Given the description of an element on the screen output the (x, y) to click on. 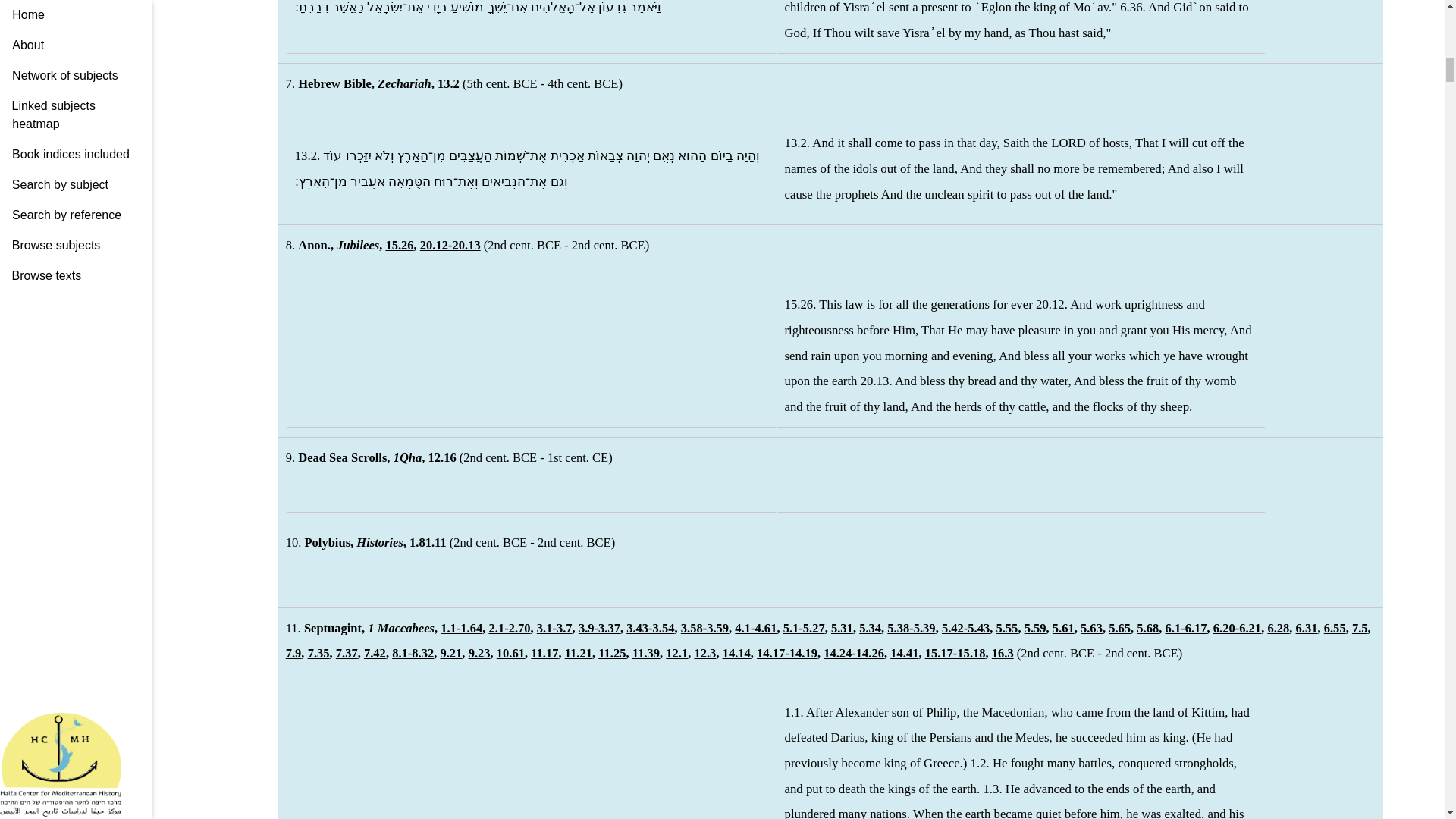
4.1-4.61 (755, 627)
5.31 (842, 627)
3.1-3.7 (554, 627)
5.55 (1006, 627)
13.2 (449, 83)
20.12-20.13 (450, 245)
5.34 (869, 627)
2.1-2.70 (508, 627)
5.42-5.43 (966, 627)
3.9-3.37 (599, 627)
5.61 (1063, 627)
1.1-1.64 (461, 627)
5.1-5.27 (804, 627)
1.81.11 (427, 542)
5.59 (1035, 627)
